Given the description of an element on the screen output the (x, y) to click on. 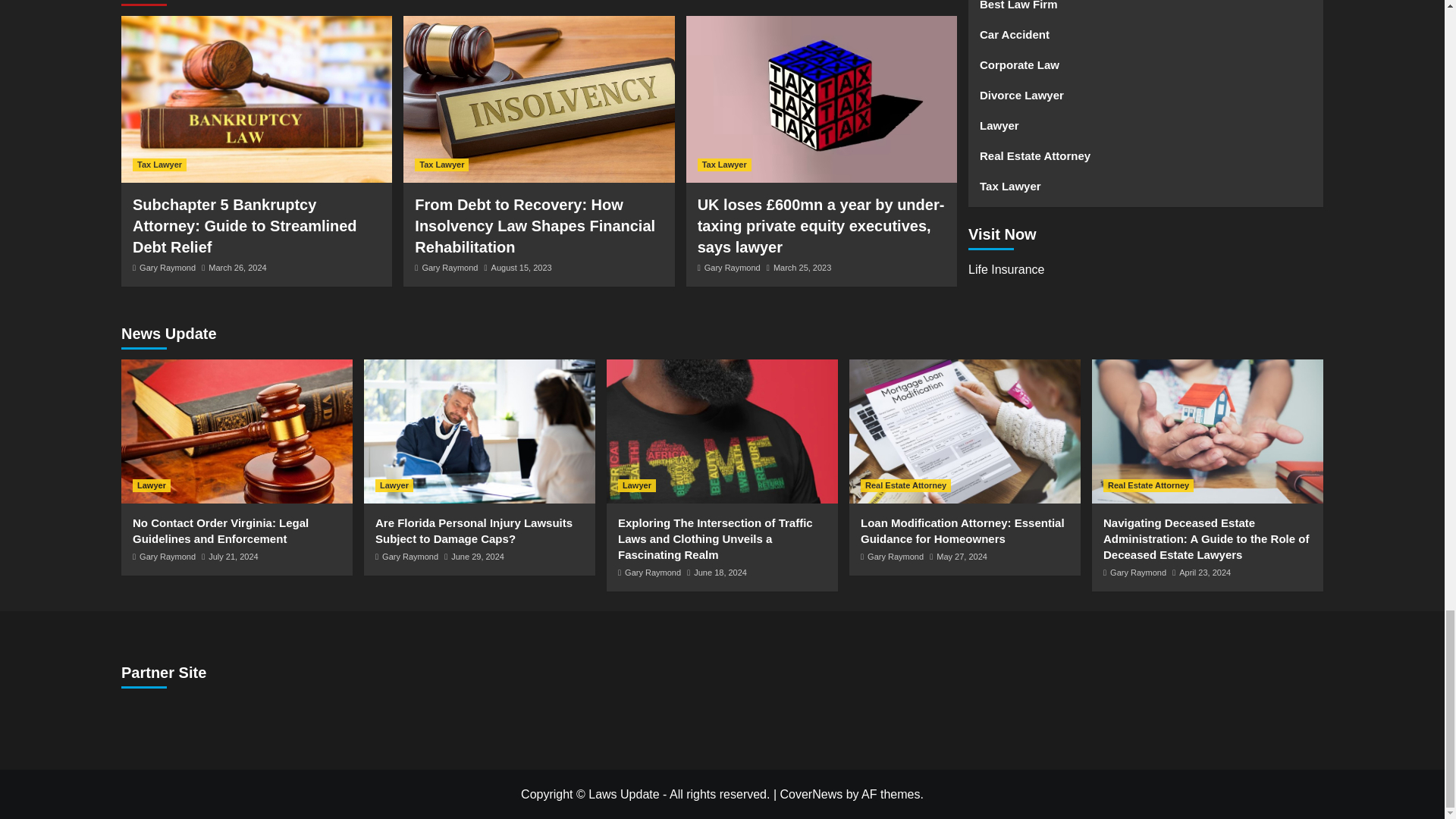
March 26, 2024 (237, 266)
August 15, 2023 (521, 266)
Tax Lawyer (441, 164)
Gary Raymond (449, 266)
No Contact Order Virginia: Legal Guidelines and Enforcement (236, 431)
Gary Raymond (167, 266)
Tax Lawyer (159, 164)
Are Florida Personal Injury Lawsuits Subject to Damage Caps? (479, 431)
